Given the description of an element on the screen output the (x, y) to click on. 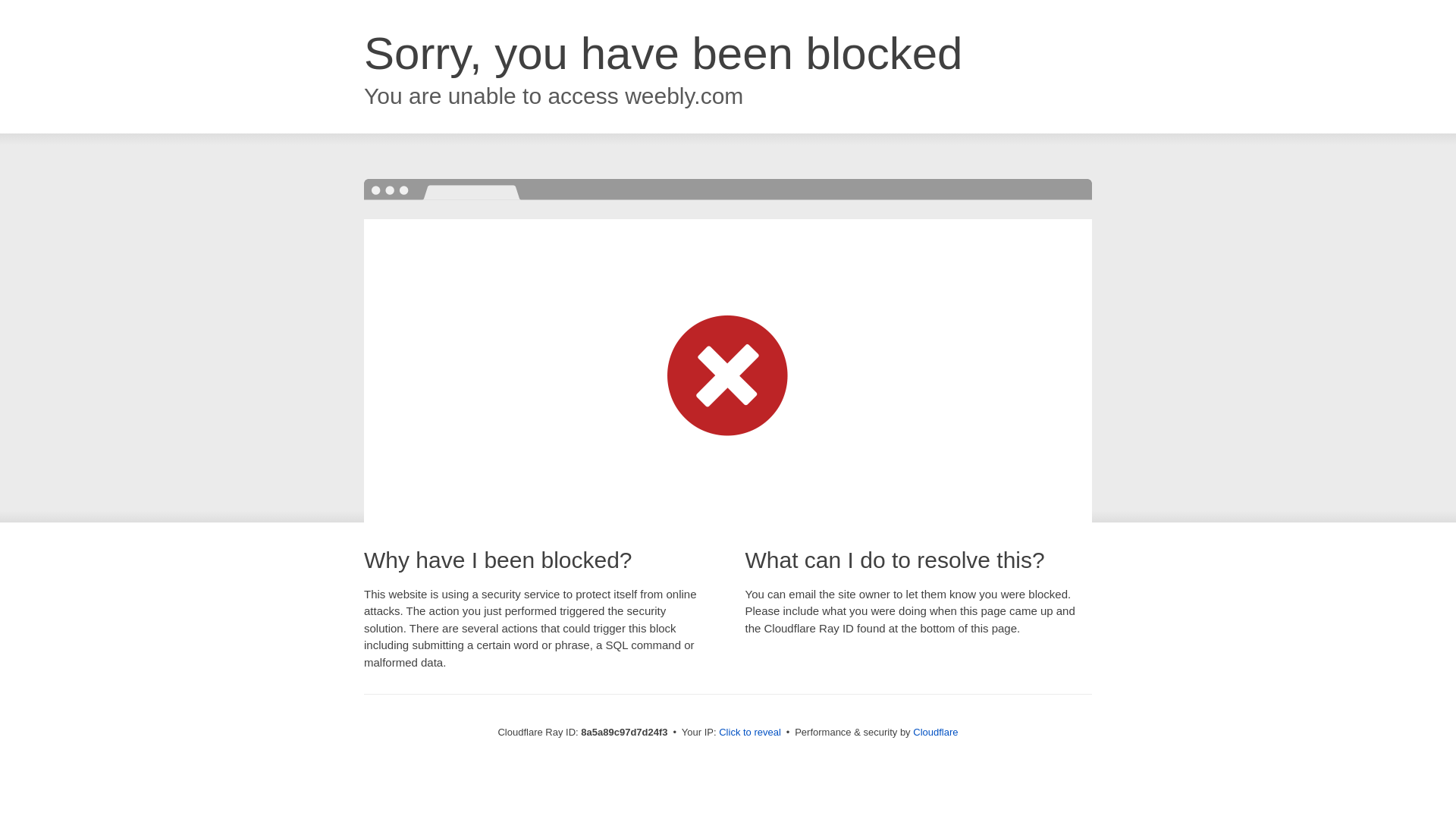
Cloudflare (935, 731)
Click to reveal (749, 732)
